Given the description of an element on the screen output the (x, y) to click on. 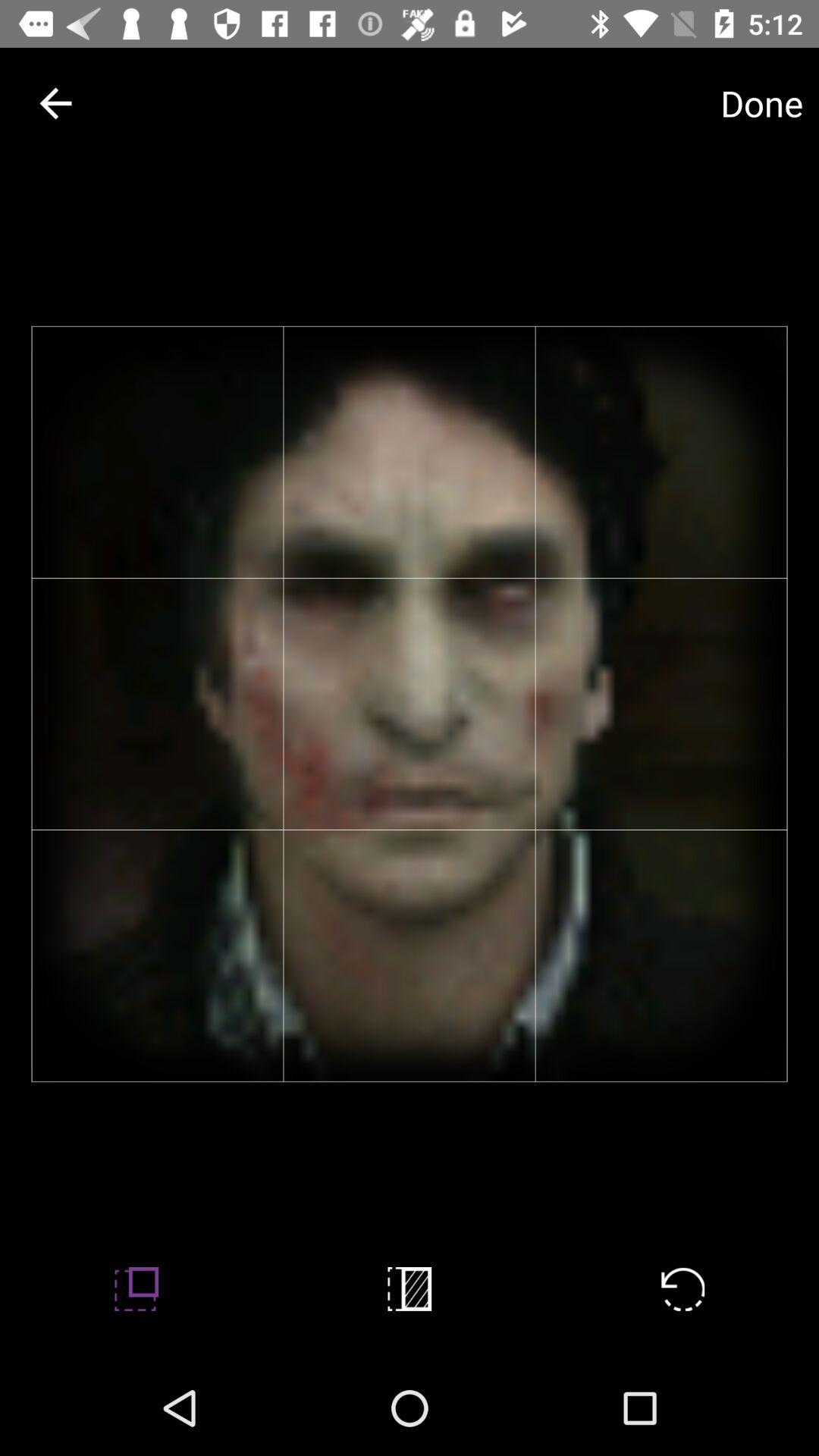
go back a page (55, 103)
